Given the description of an element on the screen output the (x, y) to click on. 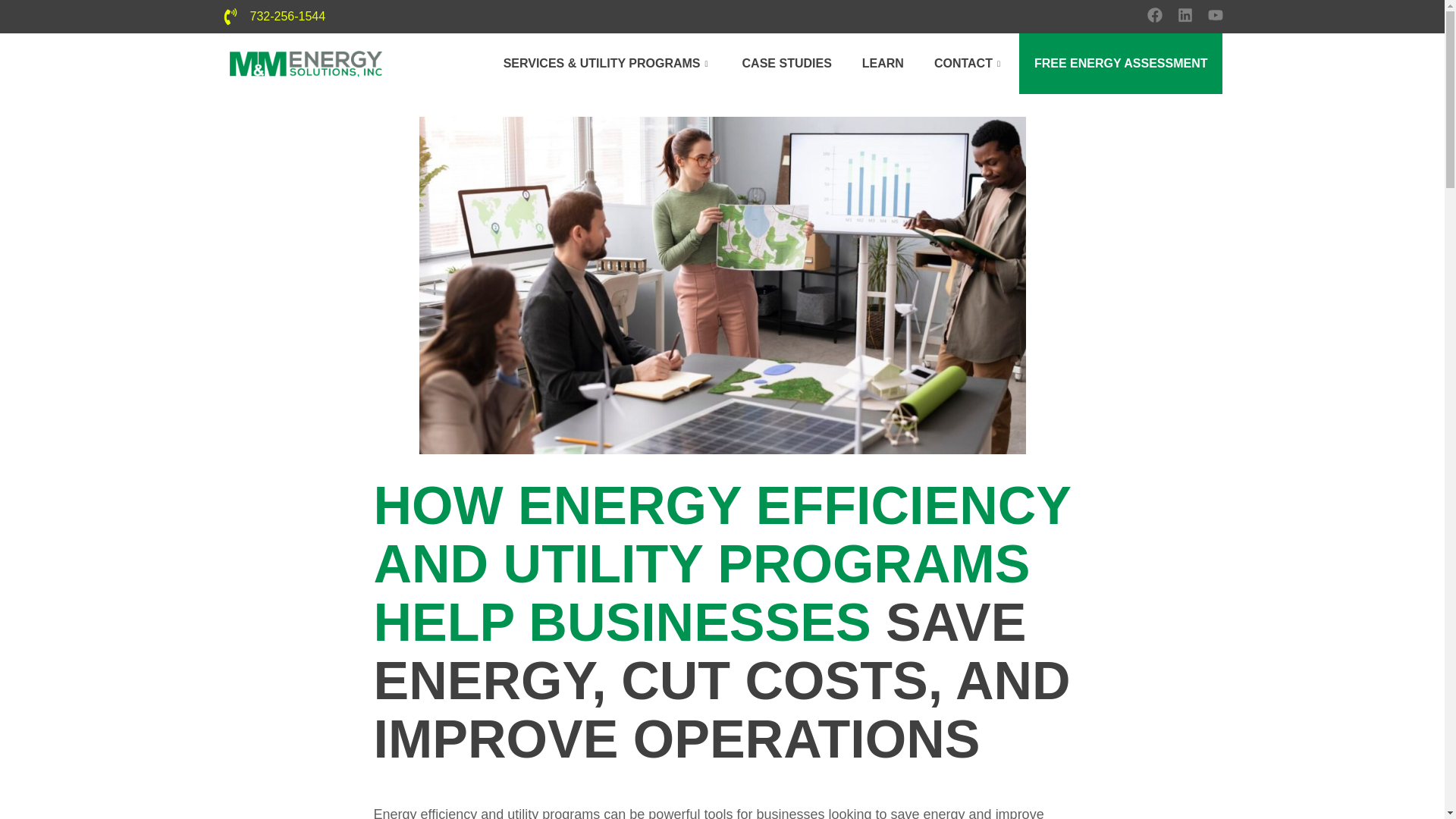
FREE ENERGY ASSESSMENT (1121, 63)
CONTACT (968, 63)
CASE STUDIES (786, 63)
732-256-1544 (288, 15)
LEARN (882, 63)
